Given the description of an element on the screen output the (x, y) to click on. 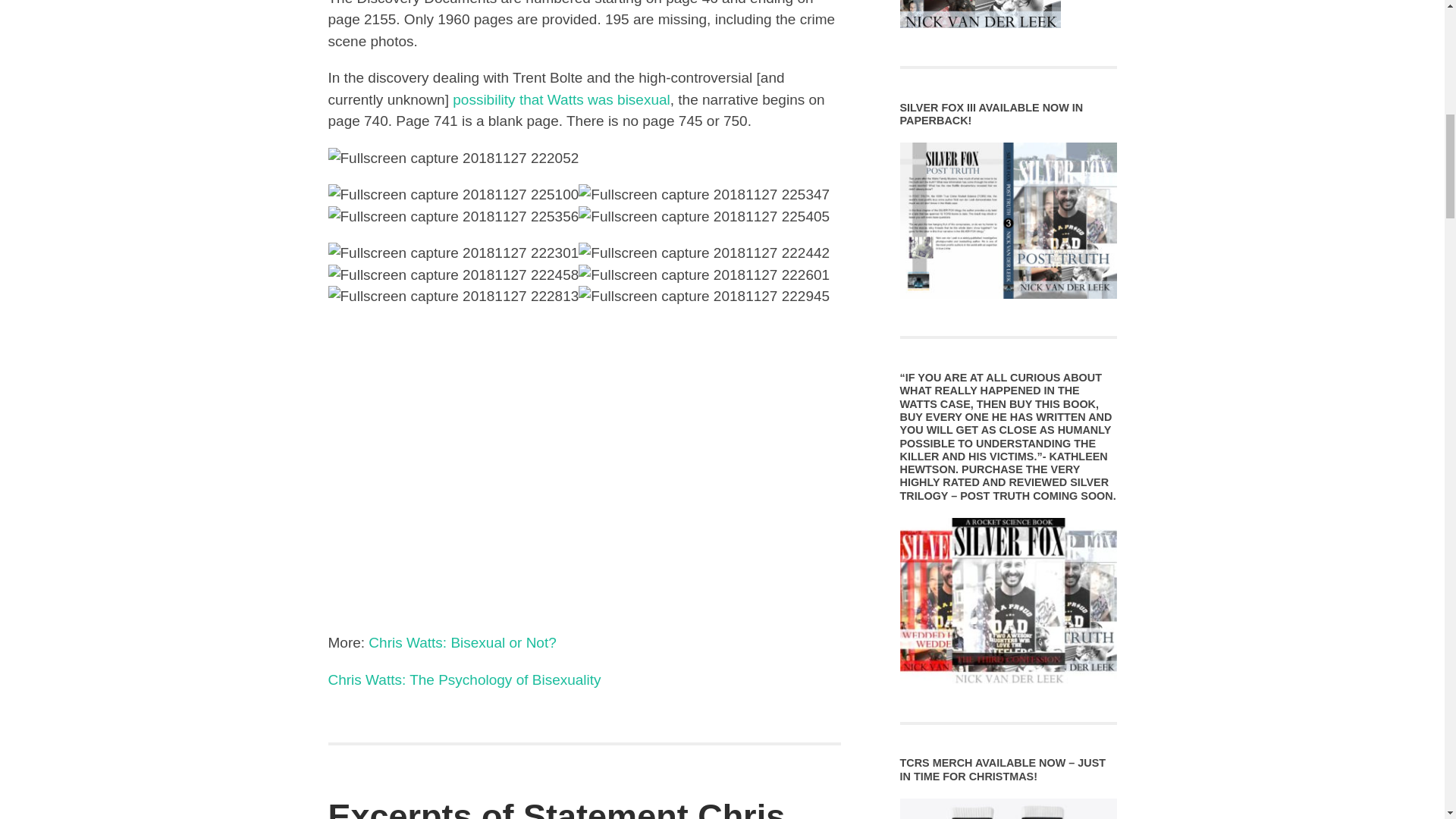
Chris Watts: The Psychology of Bisexuality (463, 679)
Chris Watts: Bisexual or Not? (462, 642)
possibility that Watts was bisexual (560, 99)
